Given the description of an element on the screen output the (x, y) to click on. 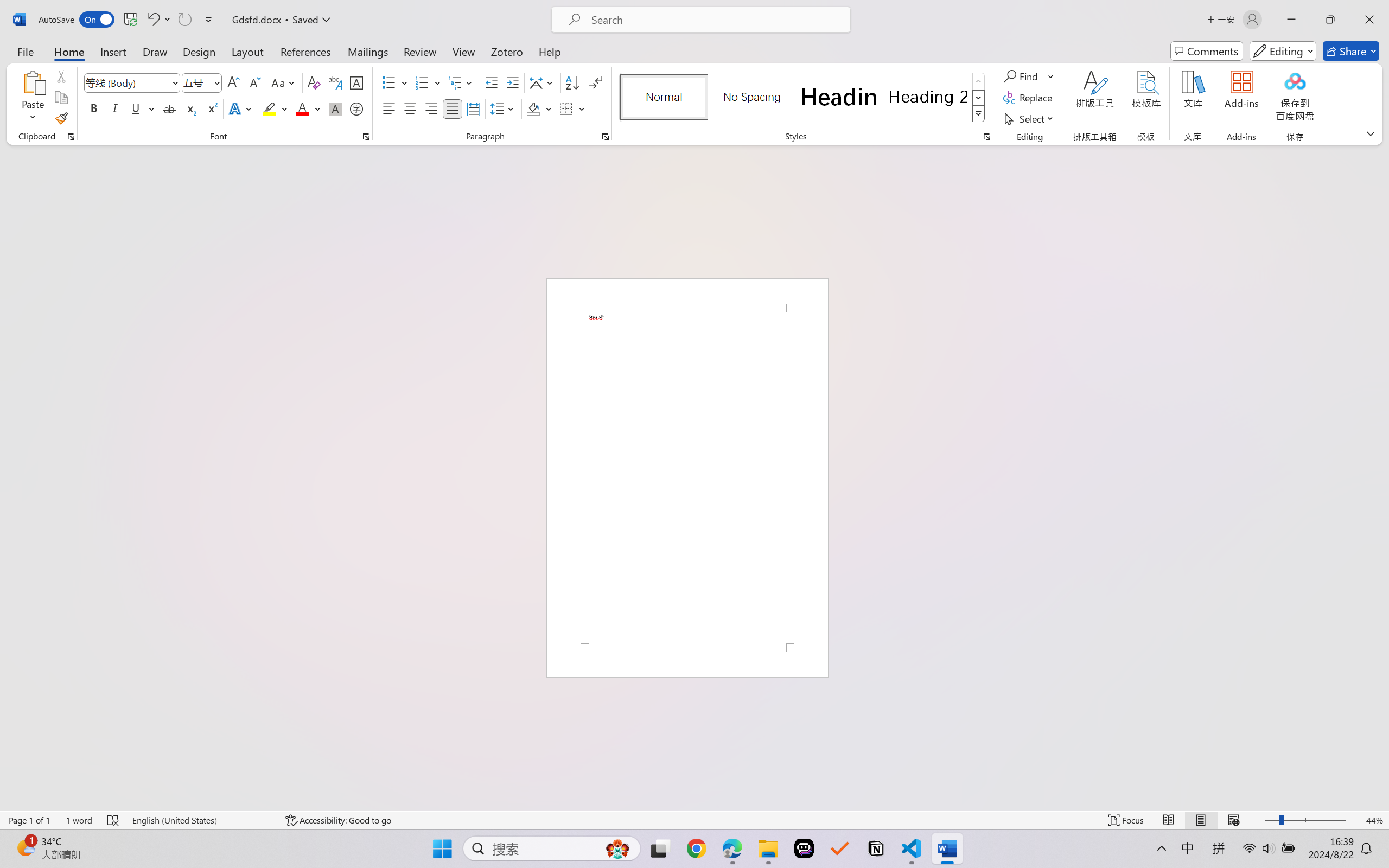
Class: MsoCommandBar (694, 819)
Can't Repeat (184, 19)
